Given the description of an element on the screen output the (x, y) to click on. 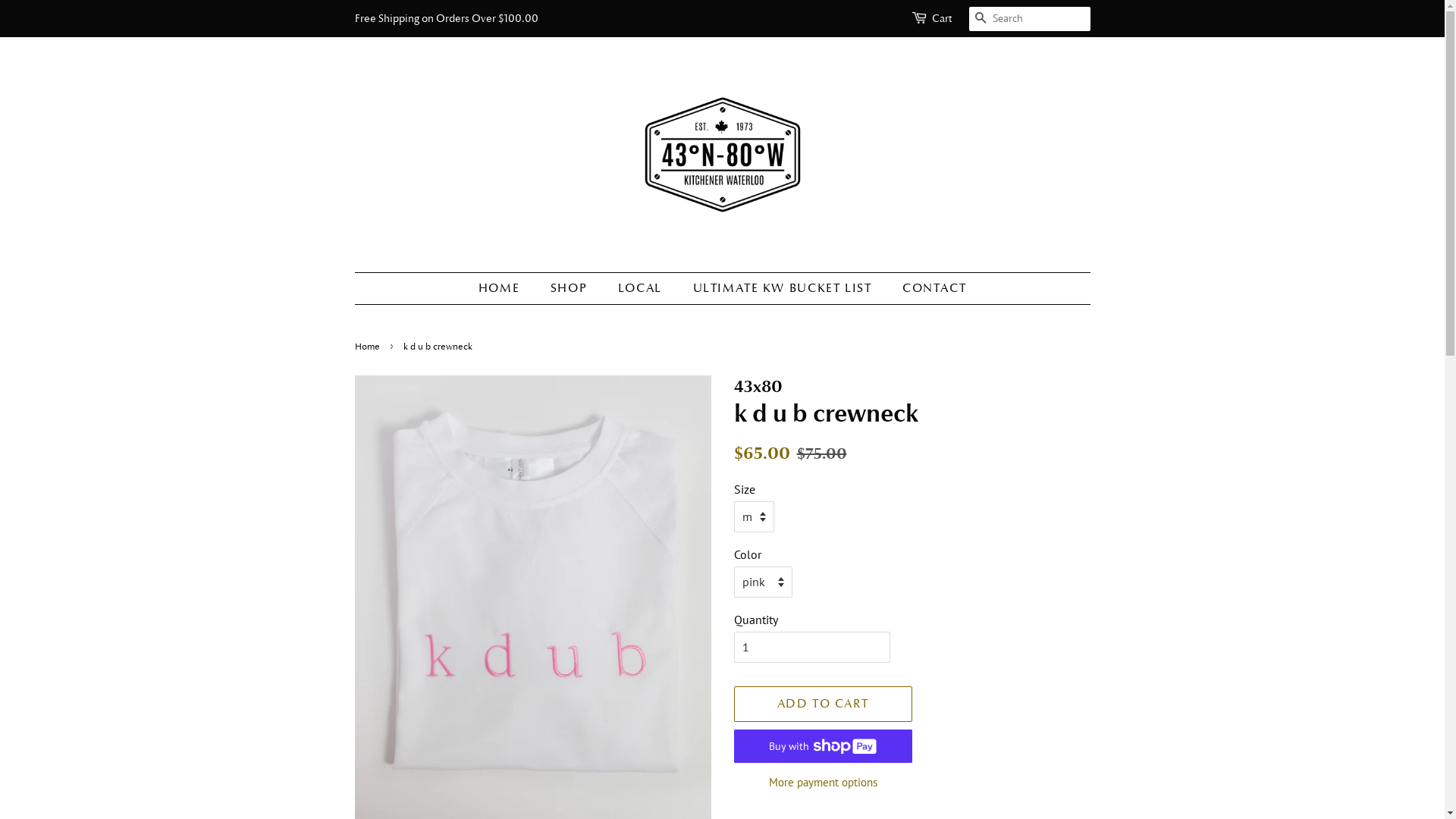
HOME Element type: text (506, 288)
ADD TO CART Element type: text (823, 703)
ULTIMATE KW BUCKET LIST Element type: text (783, 288)
Home Element type: text (368, 346)
LOCAL Element type: text (641, 288)
CONTACT Element type: text (928, 288)
More payment options Element type: text (823, 781)
SEARCH Element type: text (981, 18)
SHOP Element type: text (570, 288)
Cart Element type: text (940, 18)
